Given the description of an element on the screen output the (x, y) to click on. 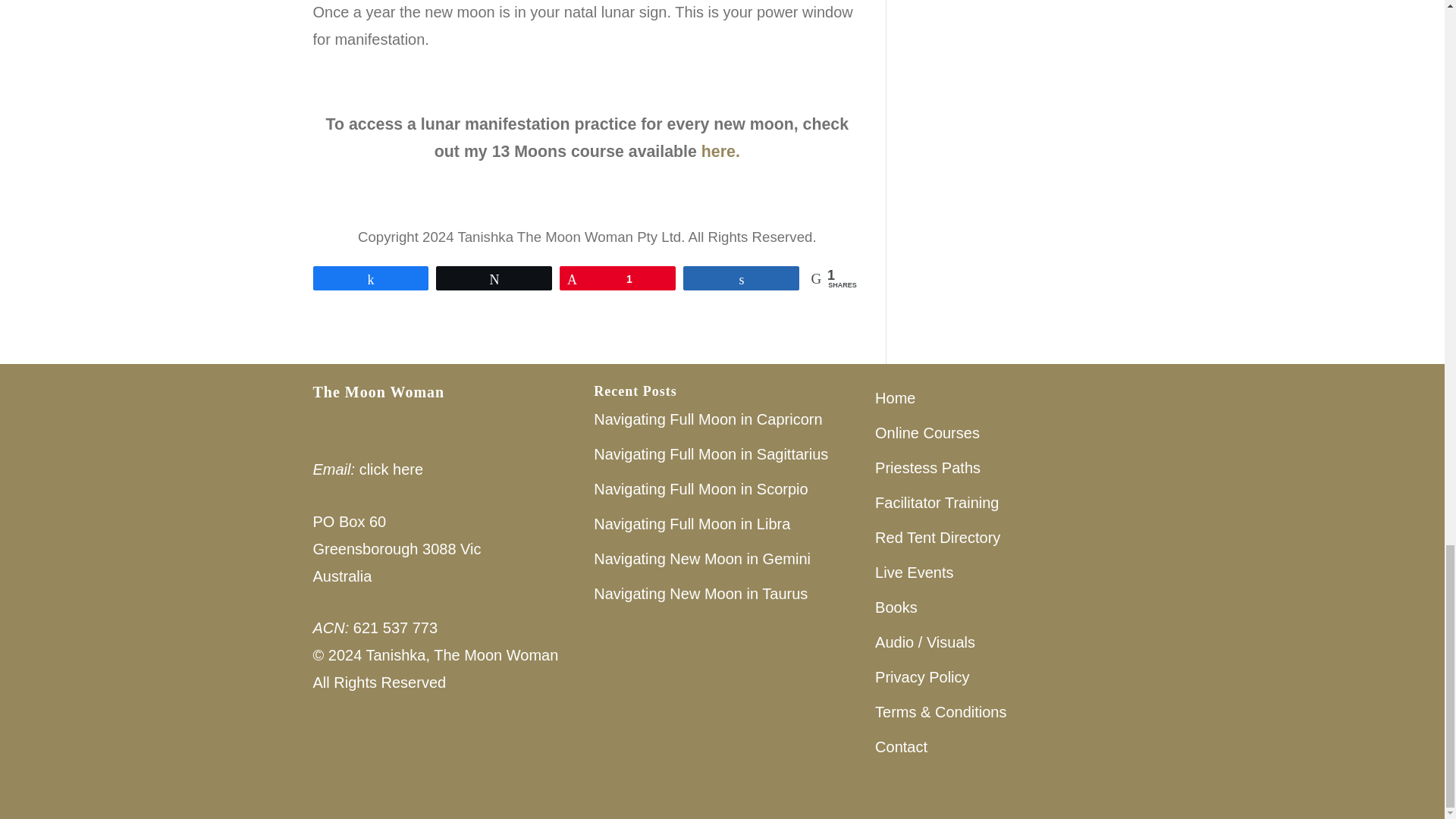
GeoTrust RapidSSL (369, 755)
